Given the description of an element on the screen output the (x, y) to click on. 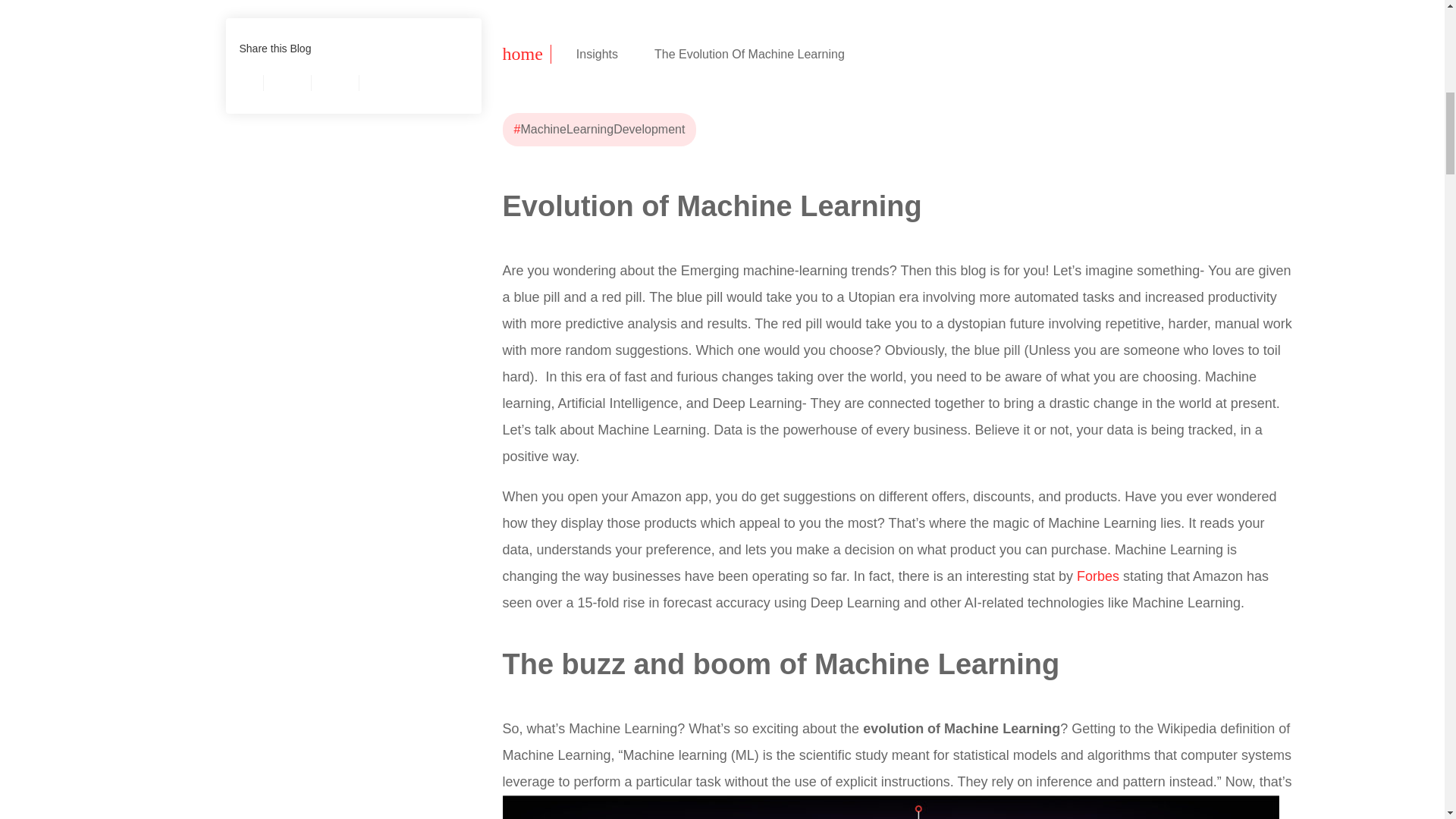
Services (596, 54)
The Evolution Of Machine Learning (749, 54)
